Given the description of an element on the screen output the (x, y) to click on. 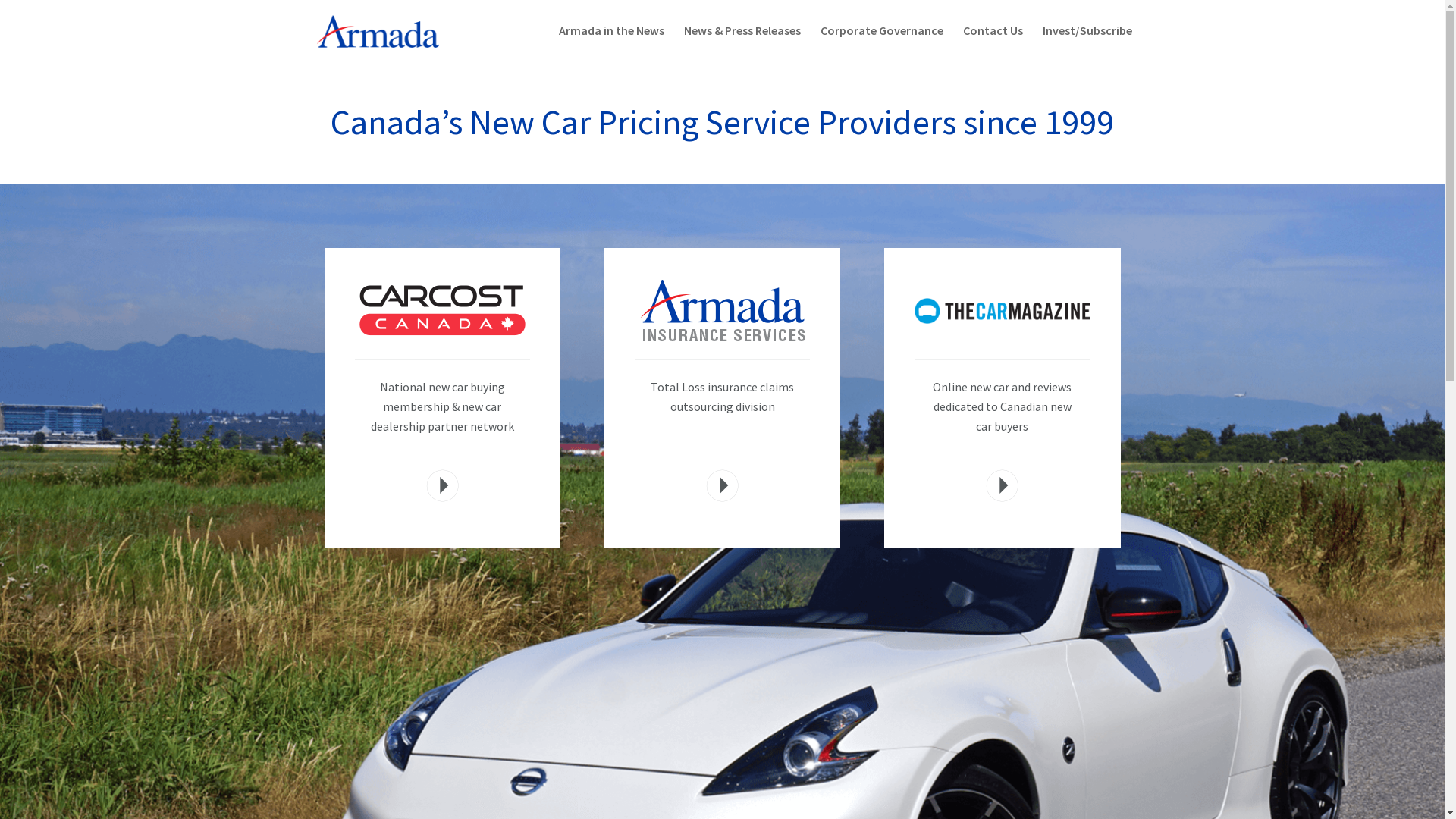
Invest/Subscribe Element type: text (1086, 42)
play-ic Element type: hover (442, 485)
car-mag Element type: hover (1002, 310)
News & Press Releases Element type: text (742, 42)
play-ic Element type: hover (722, 485)
Contact Us Element type: text (992, 42)
play-ic Element type: hover (1001, 485)
Corporate Governance Element type: text (881, 42)
armada-ins Element type: hover (722, 310)
Armada in the News Element type: text (610, 42)
carcost Element type: hover (442, 310)
